Given the description of an element on the screen output the (x, y) to click on. 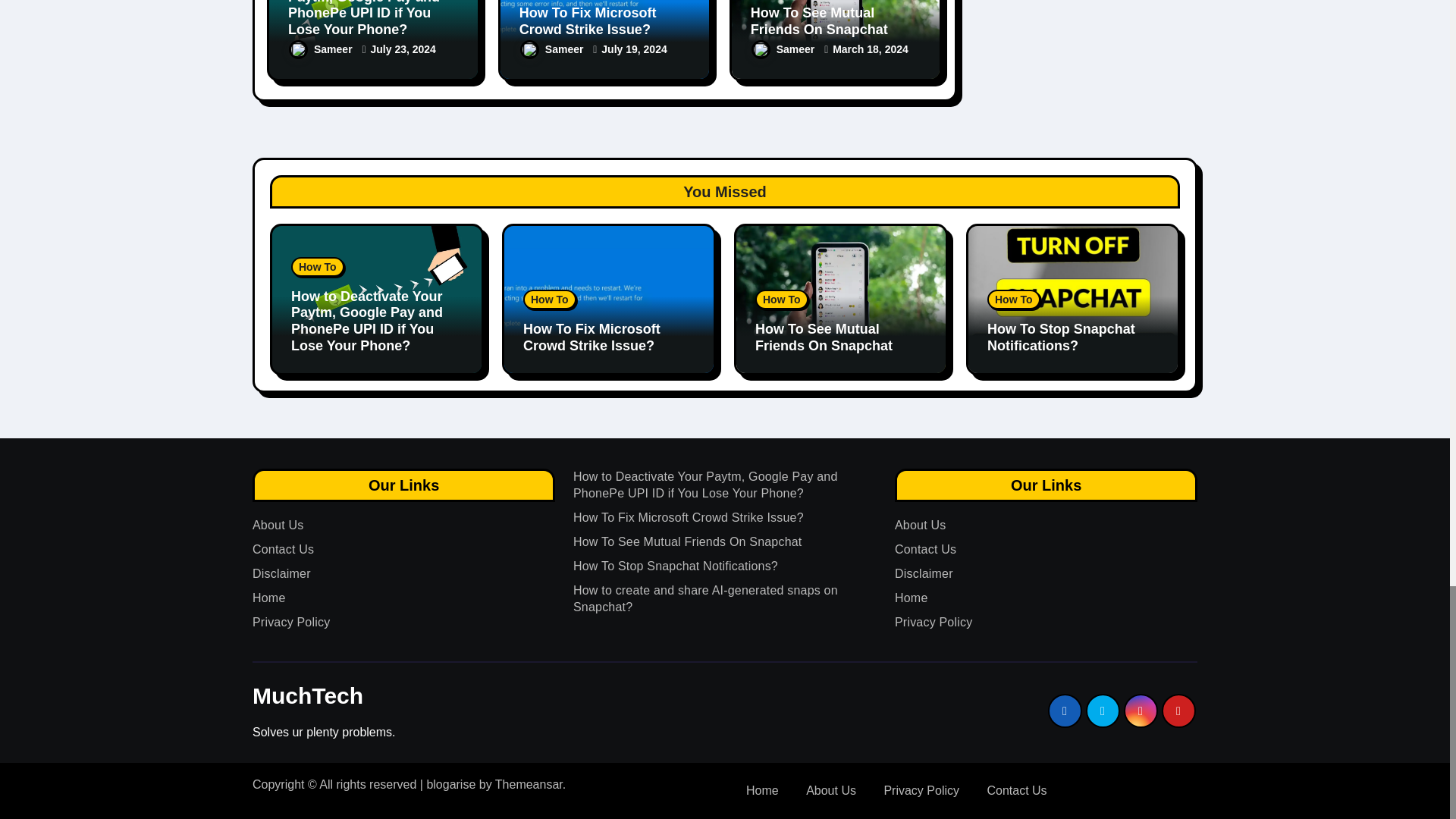
Permalink to: How To Fix Microsoft Crowd Strike Issue? (587, 20)
